Given the description of an element on the screen output the (x, y) to click on. 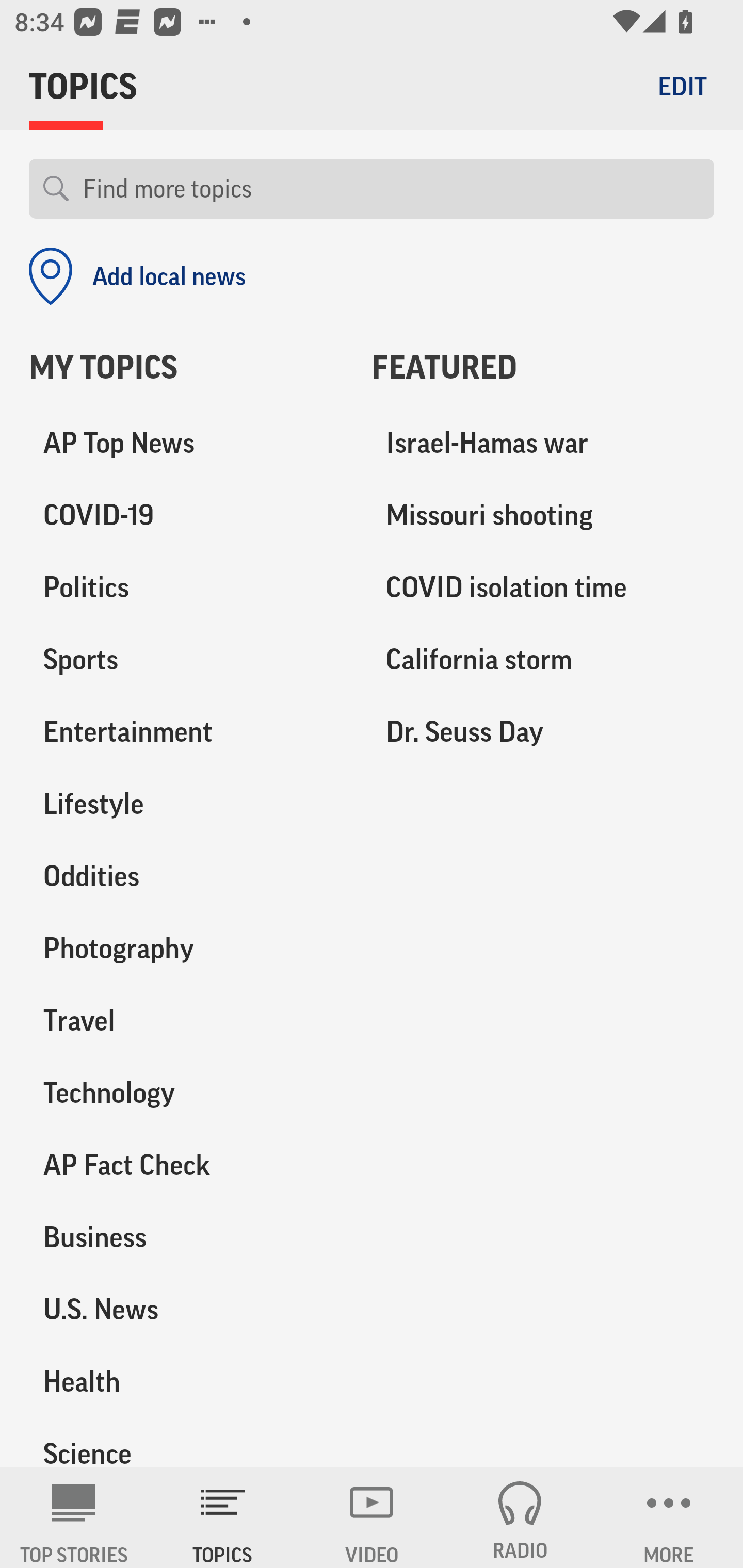
EDIT (682, 86)
Find more topics (391, 188)
Add local news (137, 276)
AP Top News (185, 443)
Israel-Hamas war (542, 443)
COVID-19 (185, 515)
Missouri shooting (542, 515)
Politics (185, 587)
COVID isolation time (542, 587)
Sports (185, 660)
California storm (542, 660)
Entertainment (185, 732)
Dr. Seuss Day (542, 732)
Lifestyle (185, 804)
Oddities (185, 876)
Photography (185, 948)
Travel (185, 1020)
Technology (185, 1092)
AP Fact Check (185, 1164)
Business (185, 1237)
U.S. News (185, 1309)
Health (185, 1381)
Science (185, 1442)
AP News TOP STORIES (74, 1517)
TOPICS (222, 1517)
VIDEO (371, 1517)
RADIO (519, 1517)
MORE (668, 1517)
